Given the description of an element on the screen output the (x, y) to click on. 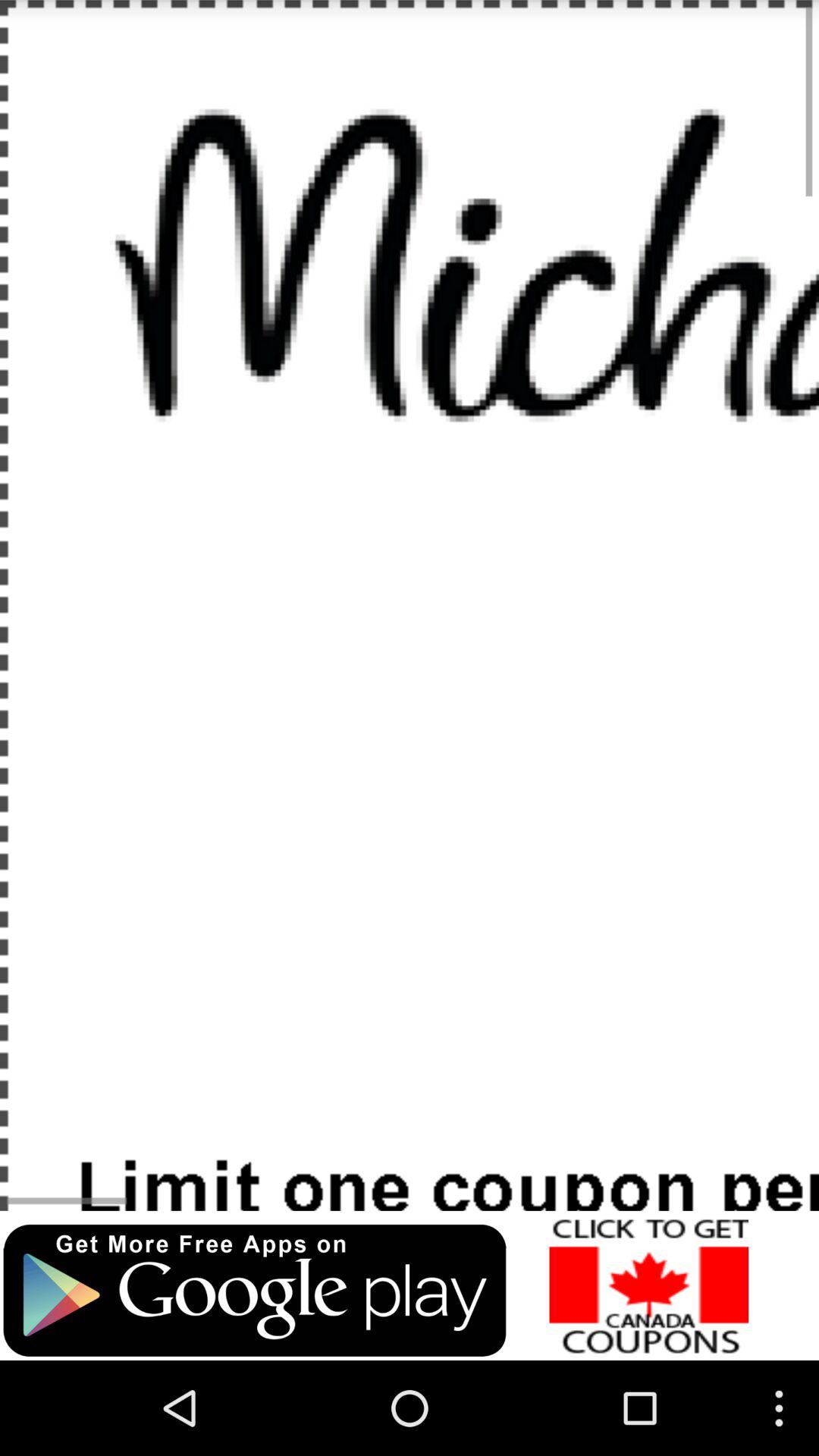
to visit google play store for free apps (254, 1290)
